Given the description of an element on the screen output the (x, y) to click on. 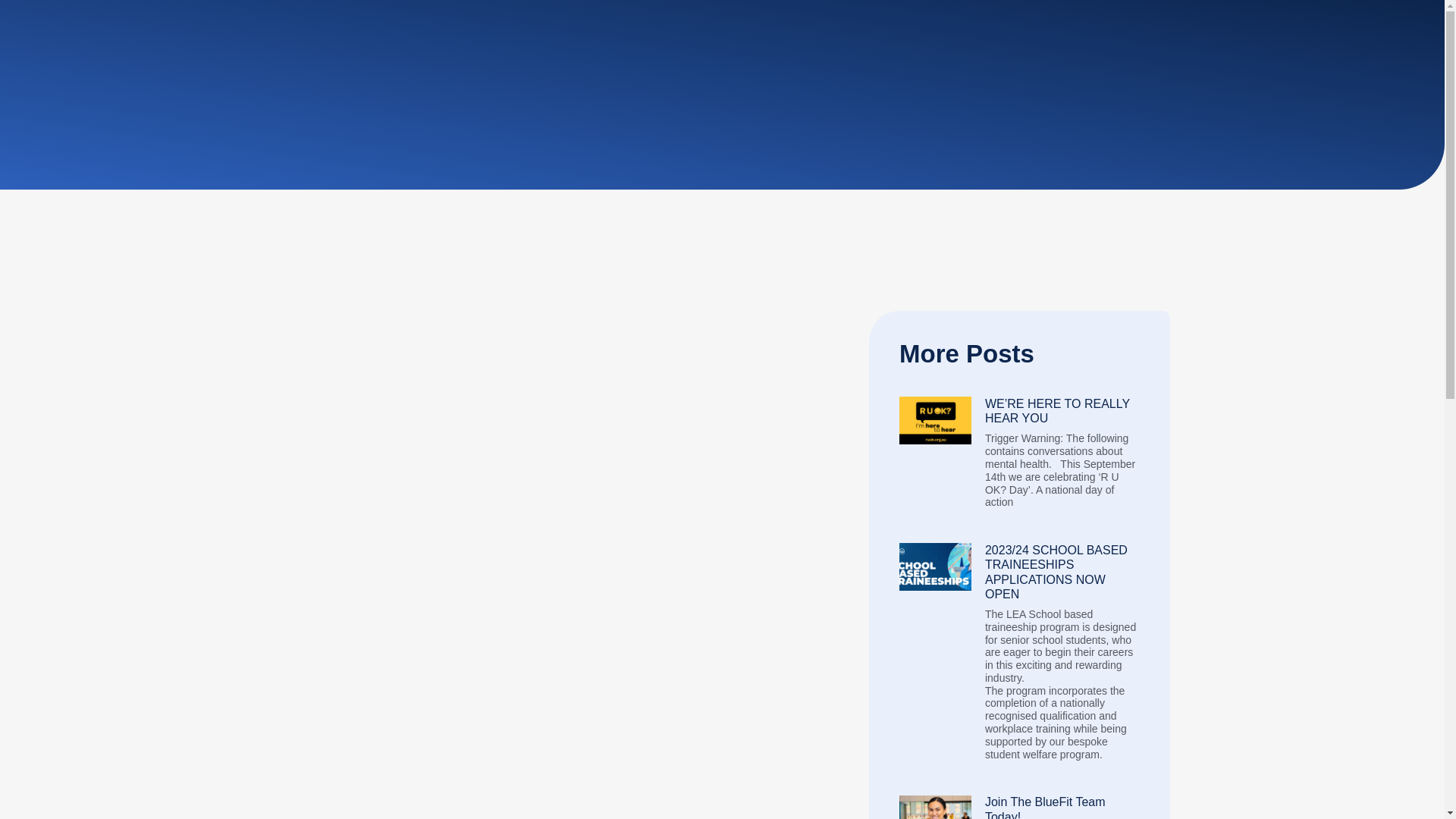
2023/24 SCHOOL BASED TRAINEESHIPS APPLICATIONS NOW OPEN Element type: text (1056, 571)
